Given the description of an element on the screen output the (x, y) to click on. 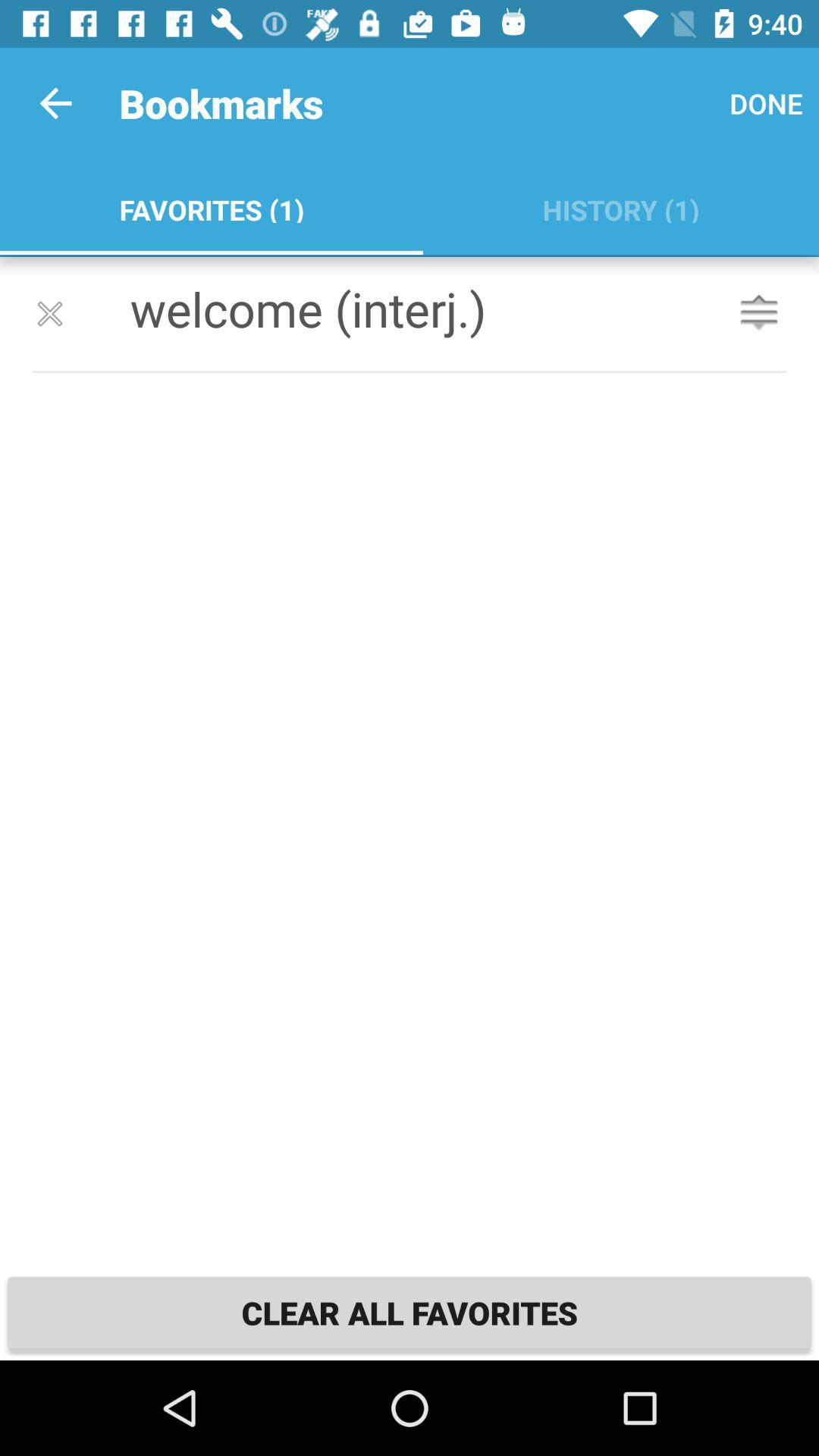
turn off the item to the left of the history (1) icon (211, 206)
